Given the description of an element on the screen output the (x, y) to click on. 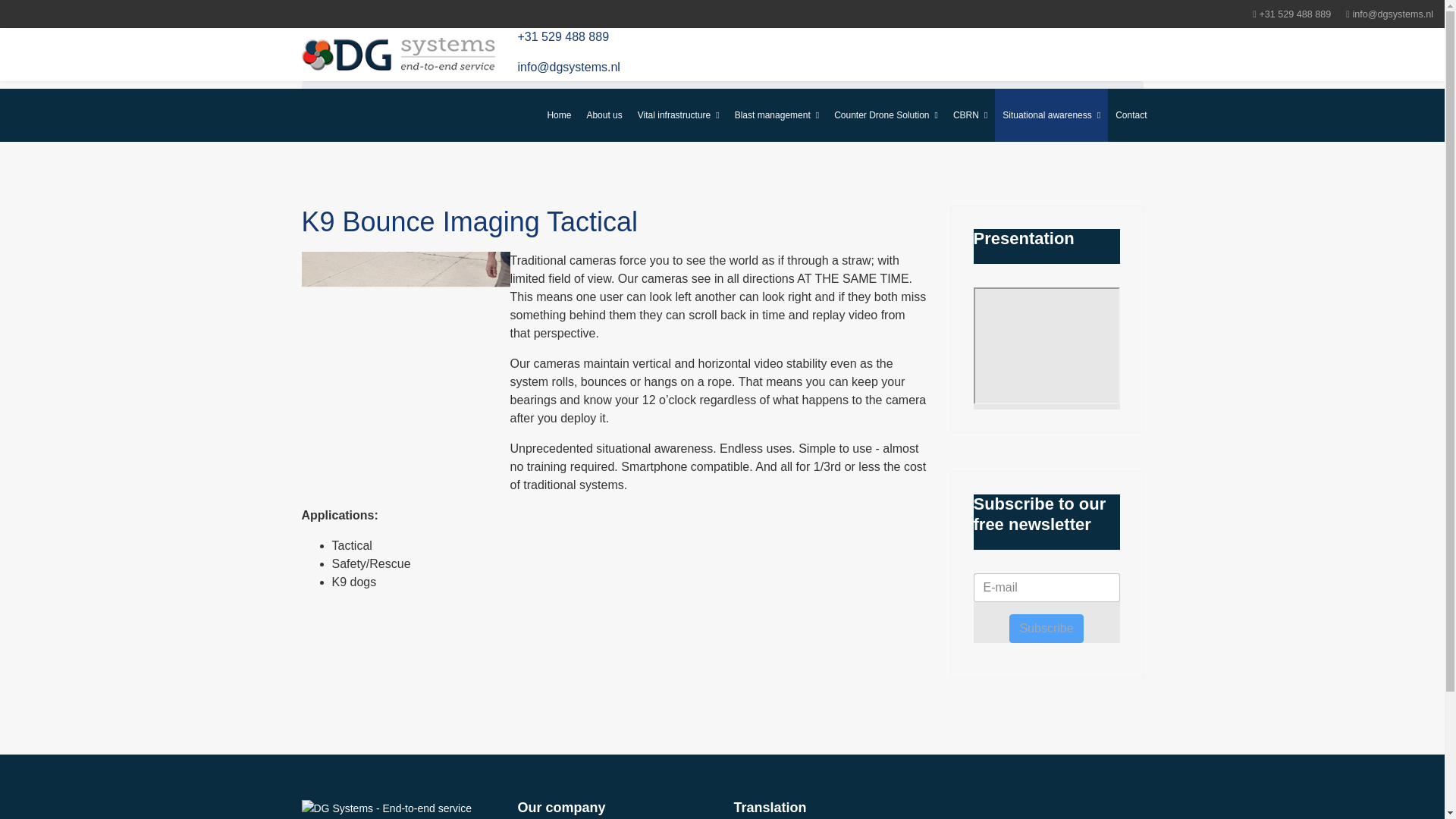
E-mail (1046, 587)
Blast management (776, 114)
CBRN (969, 114)
Situational awareness (1051, 114)
Subscribe (1046, 628)
Stuur een bericht naar DG Systems (568, 66)
E-mail (1046, 587)
About us (603, 114)
Counter Drone Solution (885, 114)
DG Systems - End-to-end service (396, 809)
